Given the description of an element on the screen output the (x, y) to click on. 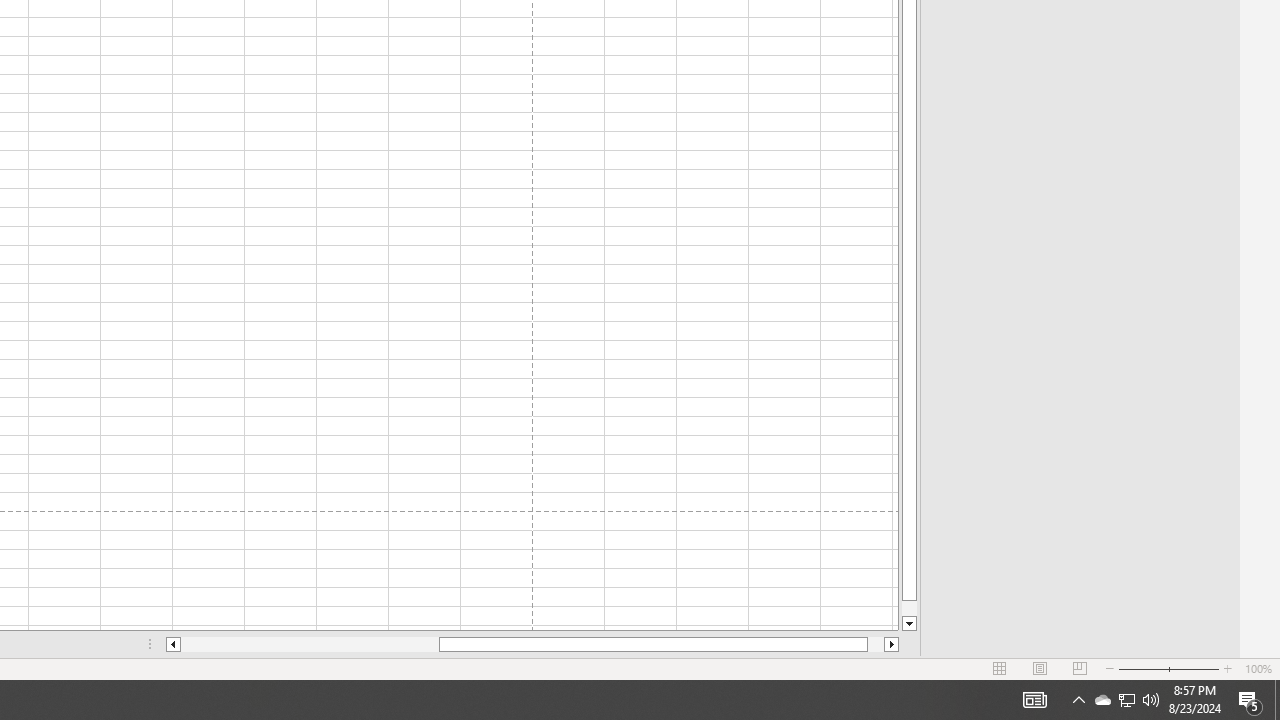
Normal (1000, 668)
Zoom (1168, 668)
Column left (171, 644)
Column right (892, 644)
Zoom In (1227, 668)
Zoom Out (1142, 668)
Page Break Preview (1079, 668)
Page right (875, 644)
Page left (309, 644)
Page down (909, 608)
Class: NetUIScrollBar (532, 644)
Line down (909, 624)
Page Layout (1039, 668)
